Given the description of an element on the screen output the (x, y) to click on. 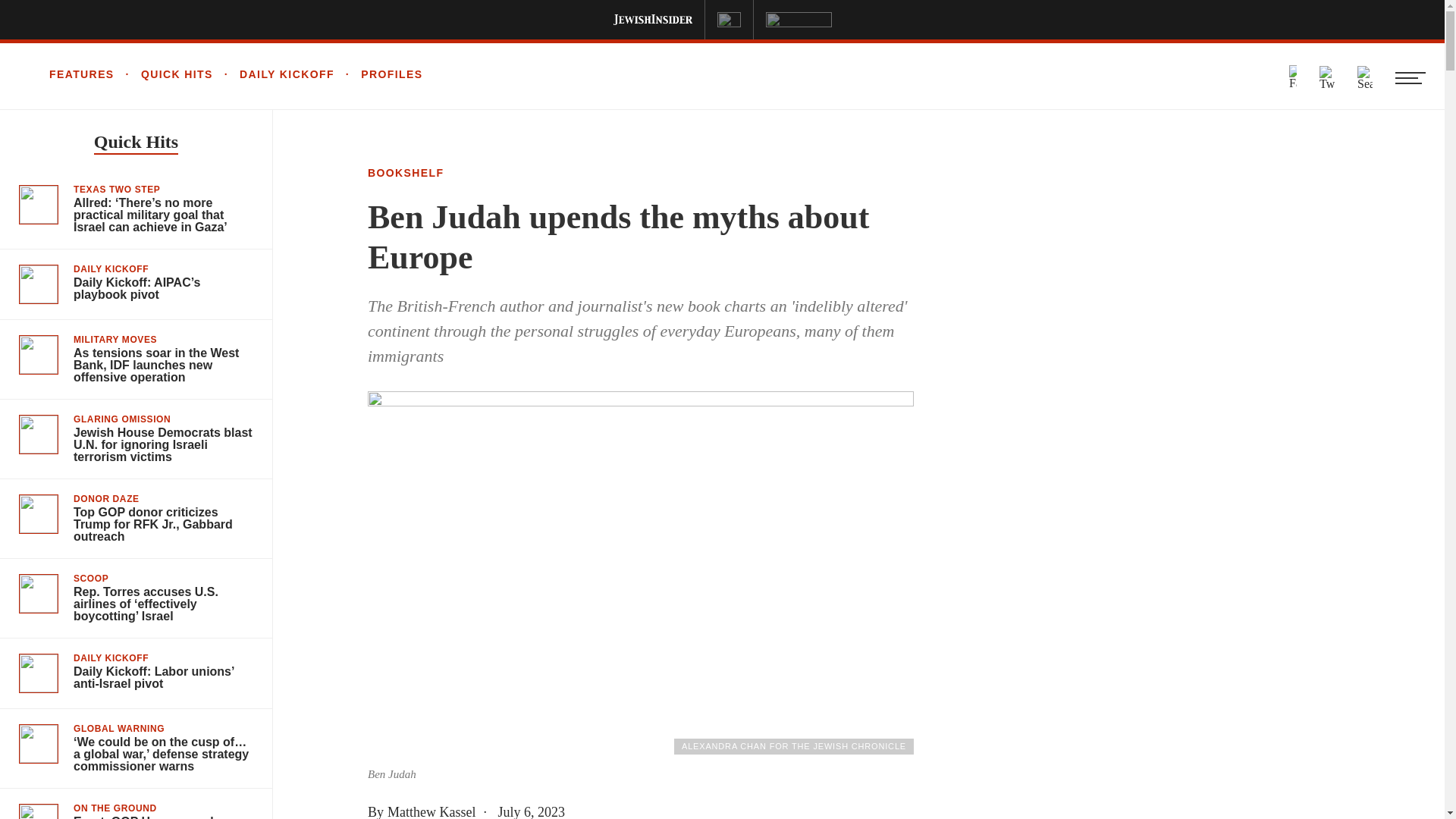
Quick Hits (135, 143)
QUICK HITS (163, 73)
FEATURES (82, 73)
Matthew Kassel (431, 812)
DAILY KICKOFF (273, 73)
PROFILES (378, 73)
